Given the description of an element on the screen output the (x, y) to click on. 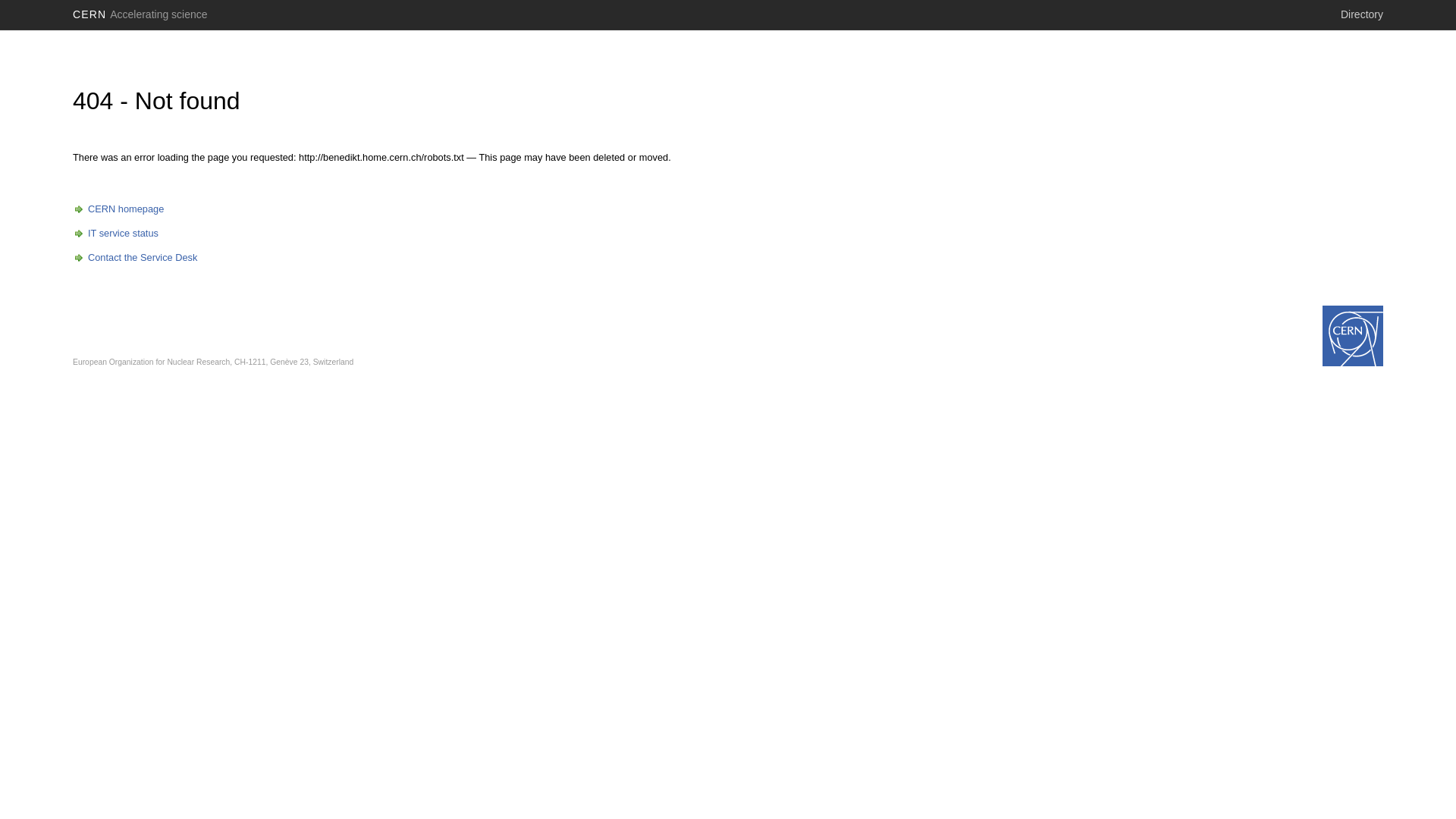
IT service status Element type: text (115, 232)
www.cern.ch Element type: hover (1352, 335)
Contact the Service Desk Element type: text (134, 257)
CERN homepage Element type: text (117, 208)
CERN Accelerating science Element type: text (139, 14)
Directory Element type: text (1361, 14)
